Given the description of an element on the screen output the (x, y) to click on. 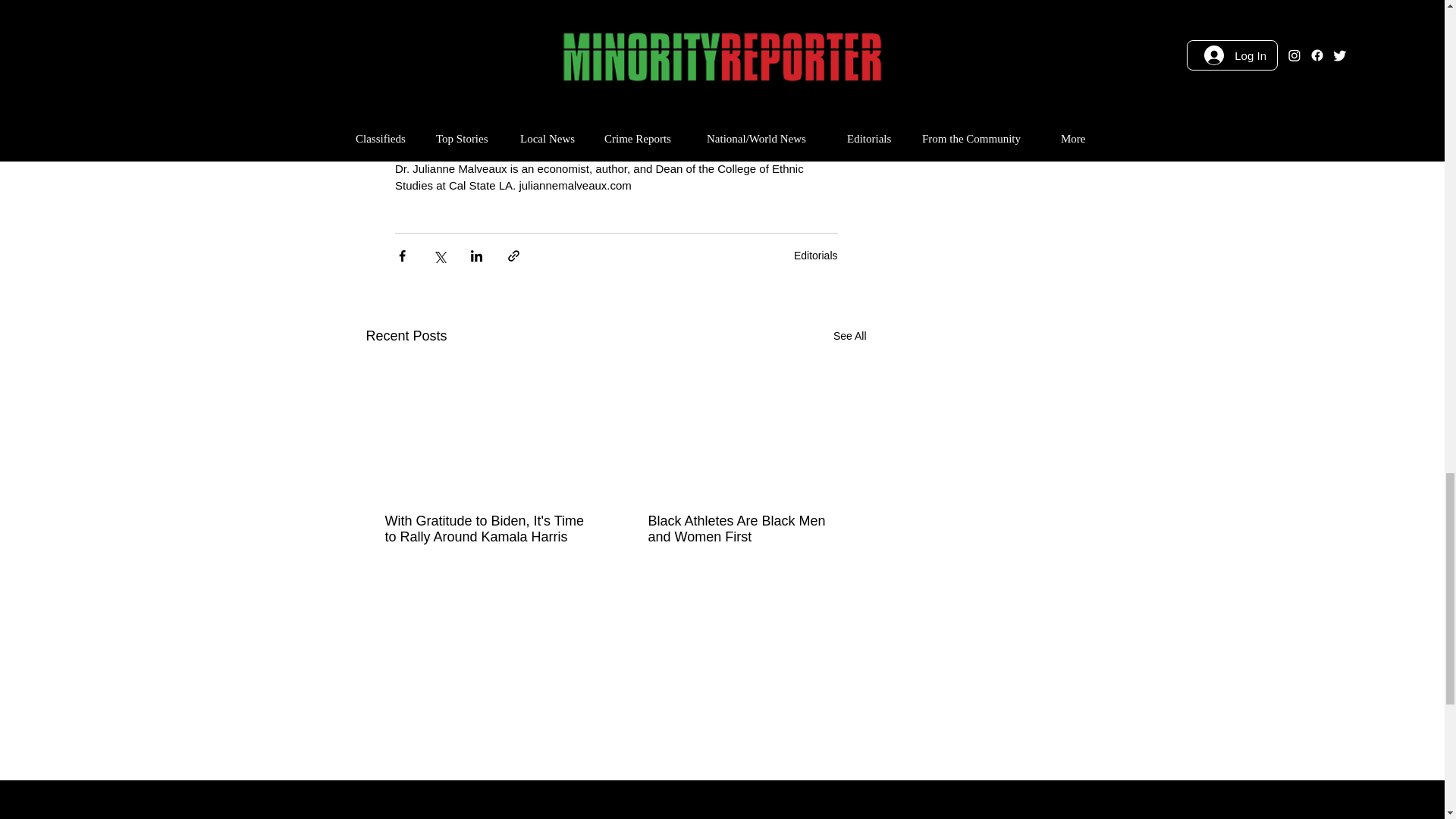
Black Athletes Are Black Men and Women First (747, 529)
See All (849, 335)
Editorials (815, 255)
